Given the description of an element on the screen output the (x, y) to click on. 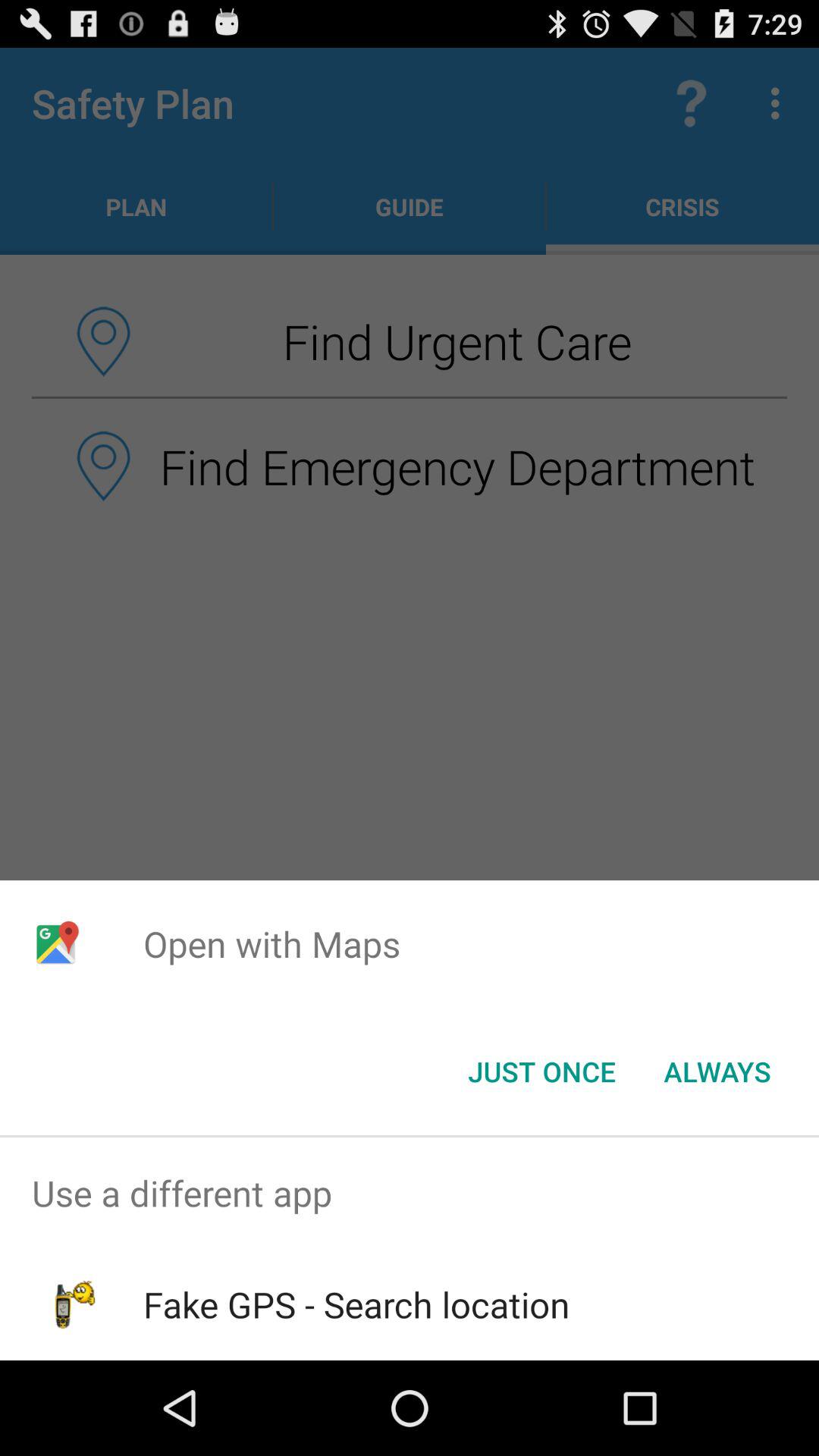
launch button to the right of the just once icon (717, 1071)
